Given the description of an element on the screen output the (x, y) to click on. 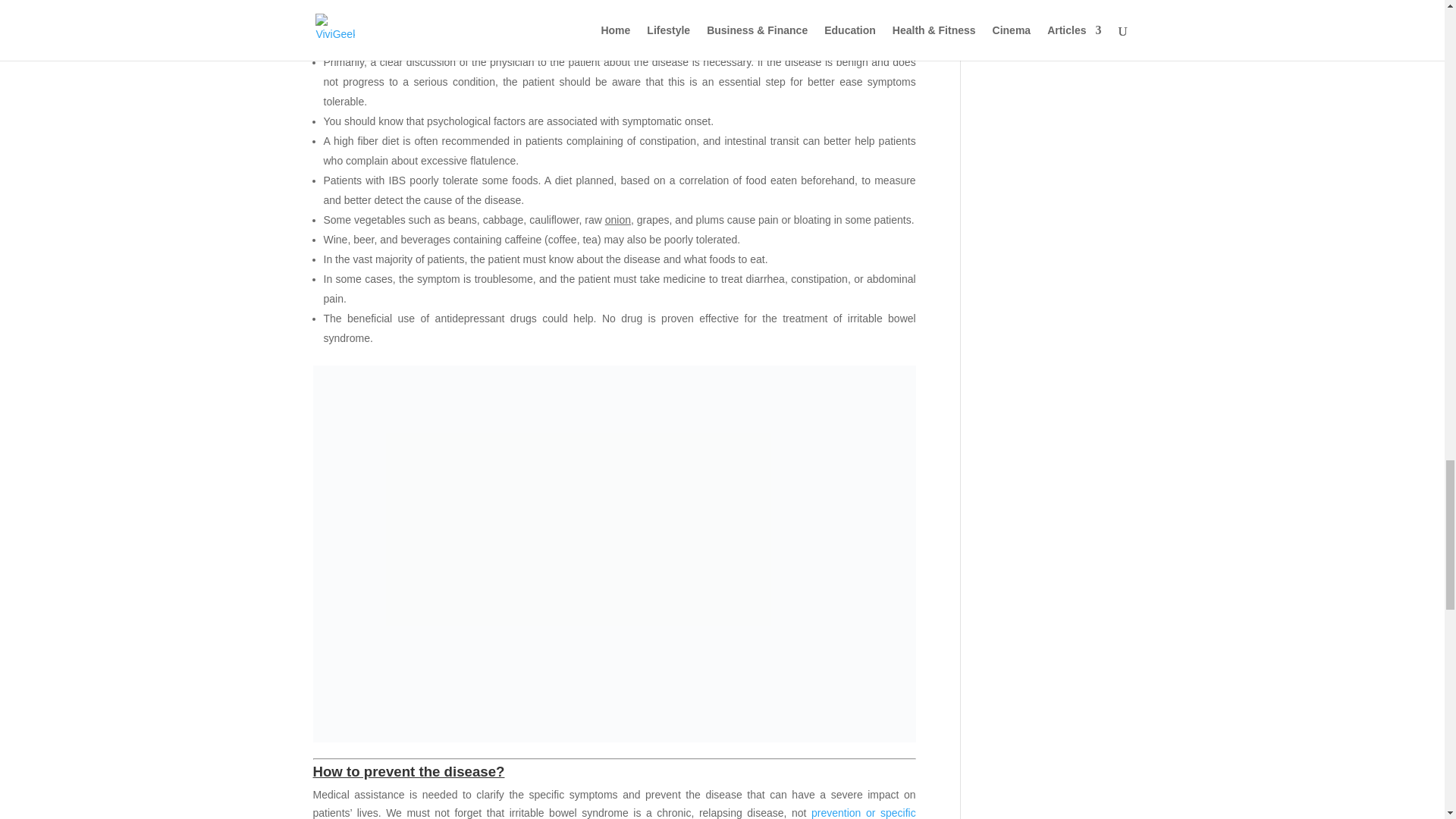
prevention or specific treatment (614, 812)
